Given the description of an element on the screen output the (x, y) to click on. 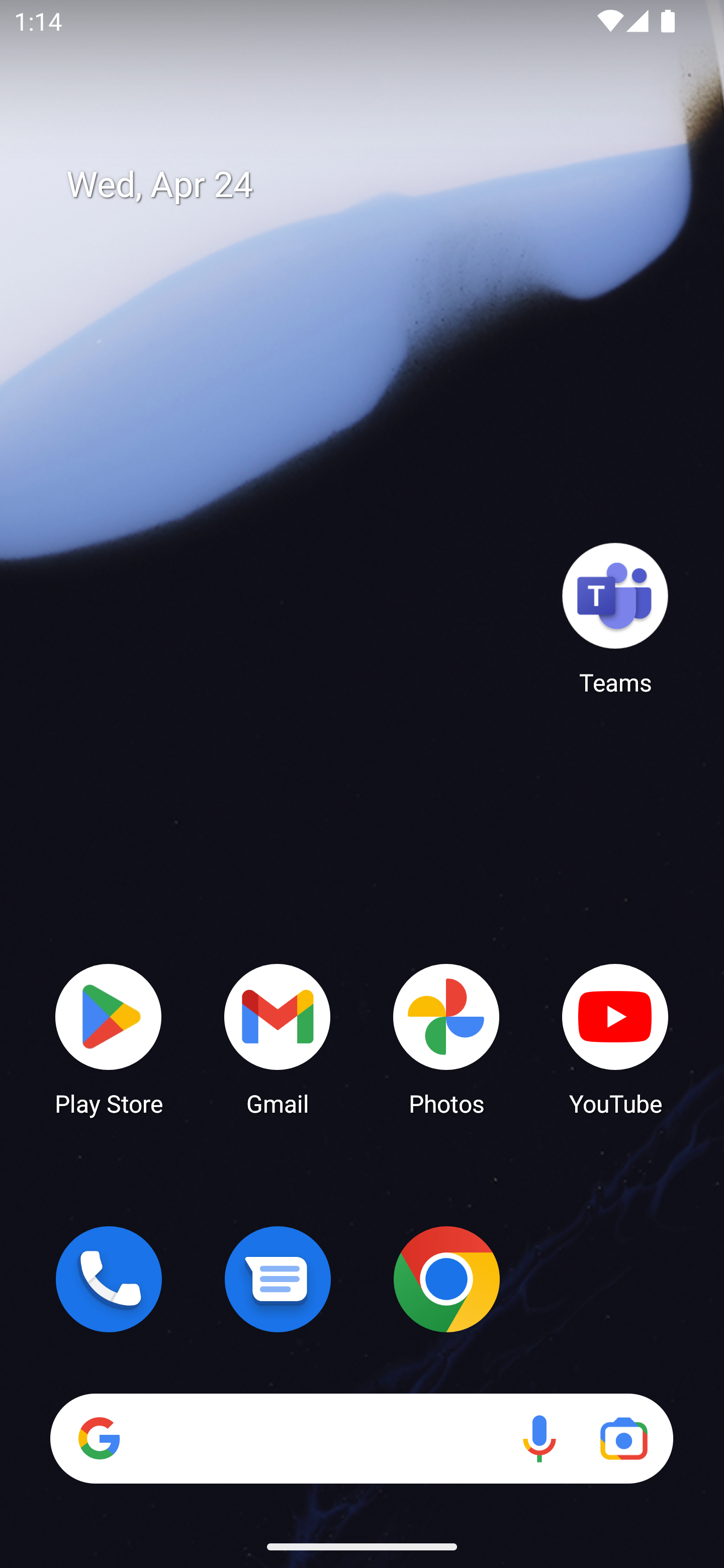
Wed, Apr 24 (375, 184)
Teams (615, 617)
Play Store (108, 1038)
Gmail (277, 1038)
Photos (445, 1038)
YouTube (615, 1038)
Phone (108, 1279)
Messages (277, 1279)
Chrome (446, 1279)
Search Voice search Google Lens (361, 1438)
Voice search (539, 1438)
Google Lens (623, 1438)
